Given the description of an element on the screen output the (x, y) to click on. 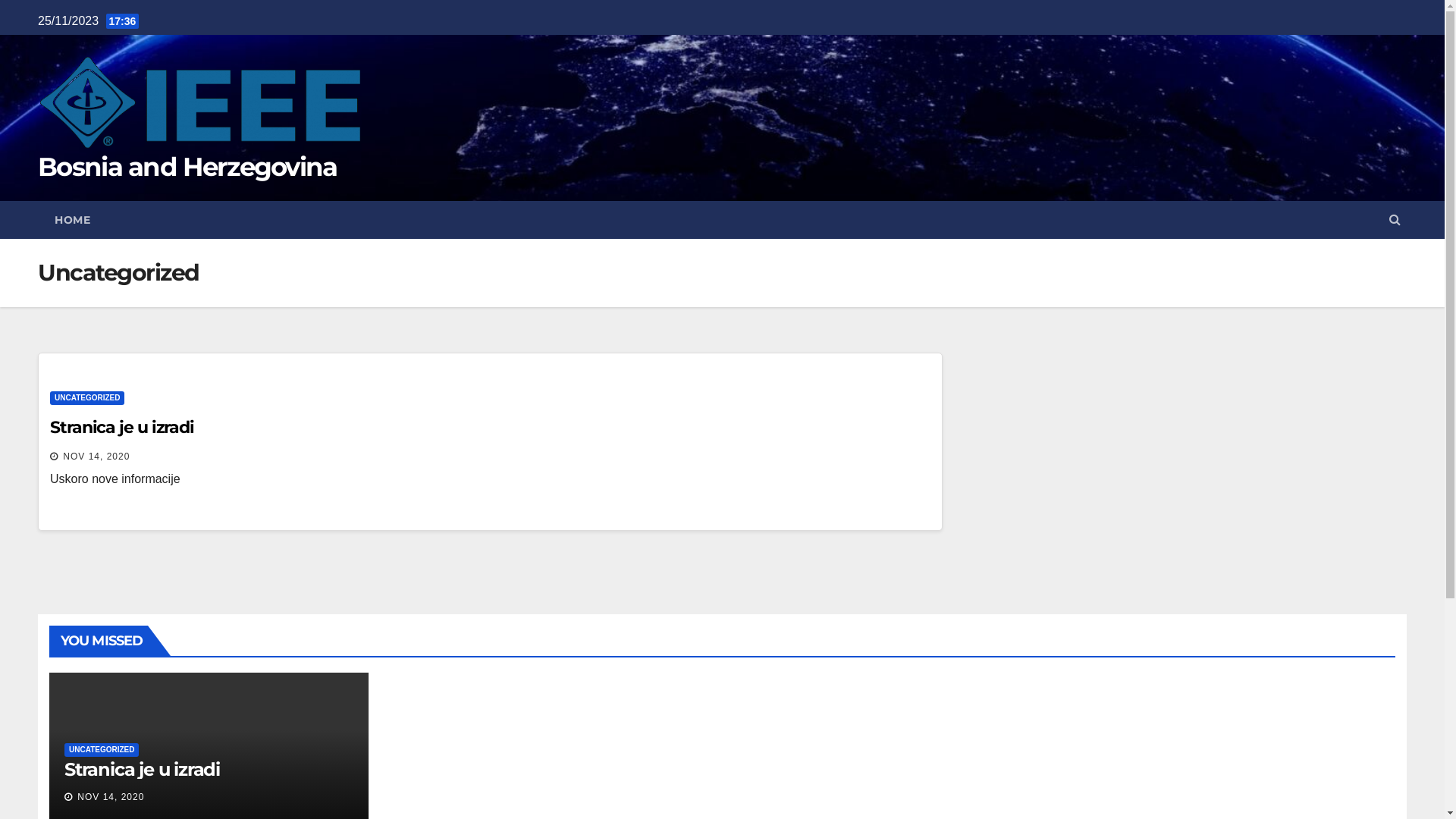
HOME Element type: text (71, 219)
NOV 14, 2020 Element type: text (110, 796)
UNCATEGORIZED Element type: text (101, 749)
Stranica je u izradi Element type: text (122, 427)
Stranica je u izradi Element type: text (141, 769)
UNCATEGORIZED Element type: text (87, 397)
Bosnia and Herzegovina Element type: text (187, 166)
NOV 14, 2020 Element type: text (95, 456)
